Given the description of an element on the screen output the (x, y) to click on. 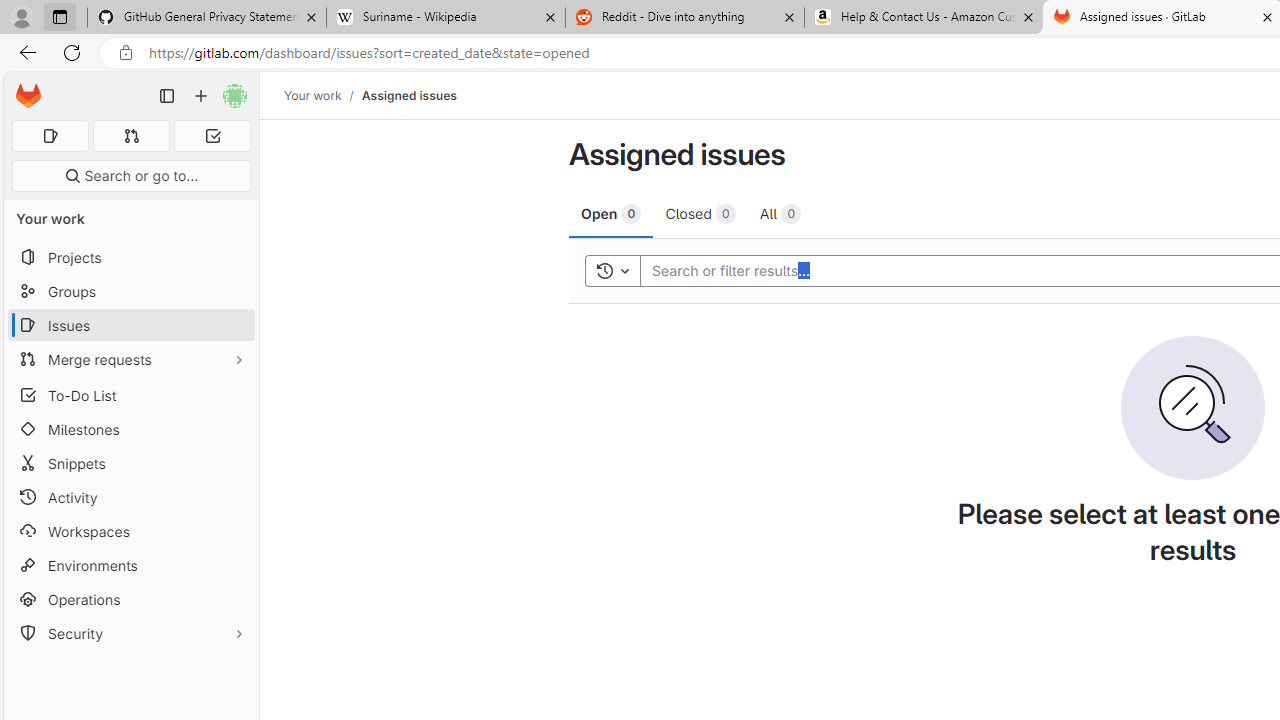
Environments (130, 564)
Suriname - Wikipedia (445, 17)
Groups (130, 291)
Operations (130, 599)
Groups (130, 291)
Your work/ (323, 95)
Create new... (201, 96)
Projects (130, 257)
Security (130, 633)
To-Do List (130, 394)
Merge requests (130, 358)
